Given the description of an element on the screen output the (x, y) to click on. 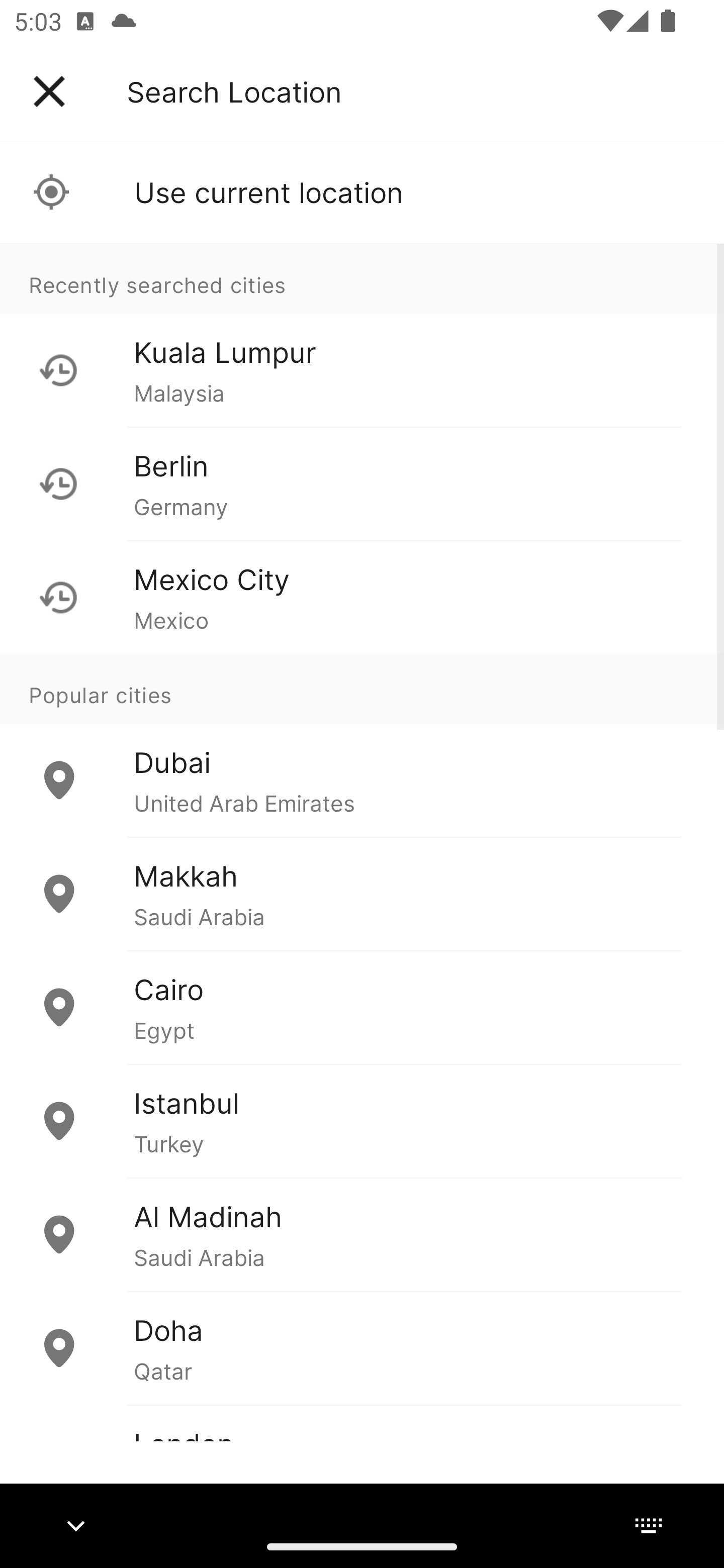
Search Location (234, 91)
Use current location (362, 192)
Recently searched cities Kuala Lumpur Malaysia (362, 334)
Recently searched cities (362, 278)
Berlin Germany (362, 483)
Mexico City Mexico (362, 596)
Popular cities Dubai United Arab Emirates (362, 745)
Popular cities (362, 688)
Makkah Saudi Arabia (362, 893)
Cairo Egypt (362, 1007)
Istanbul Turkey (362, 1120)
Al Madinah Saudi Arabia (362, 1233)
Doha Qatar (362, 1347)
